Given the description of an element on the screen output the (x, y) to click on. 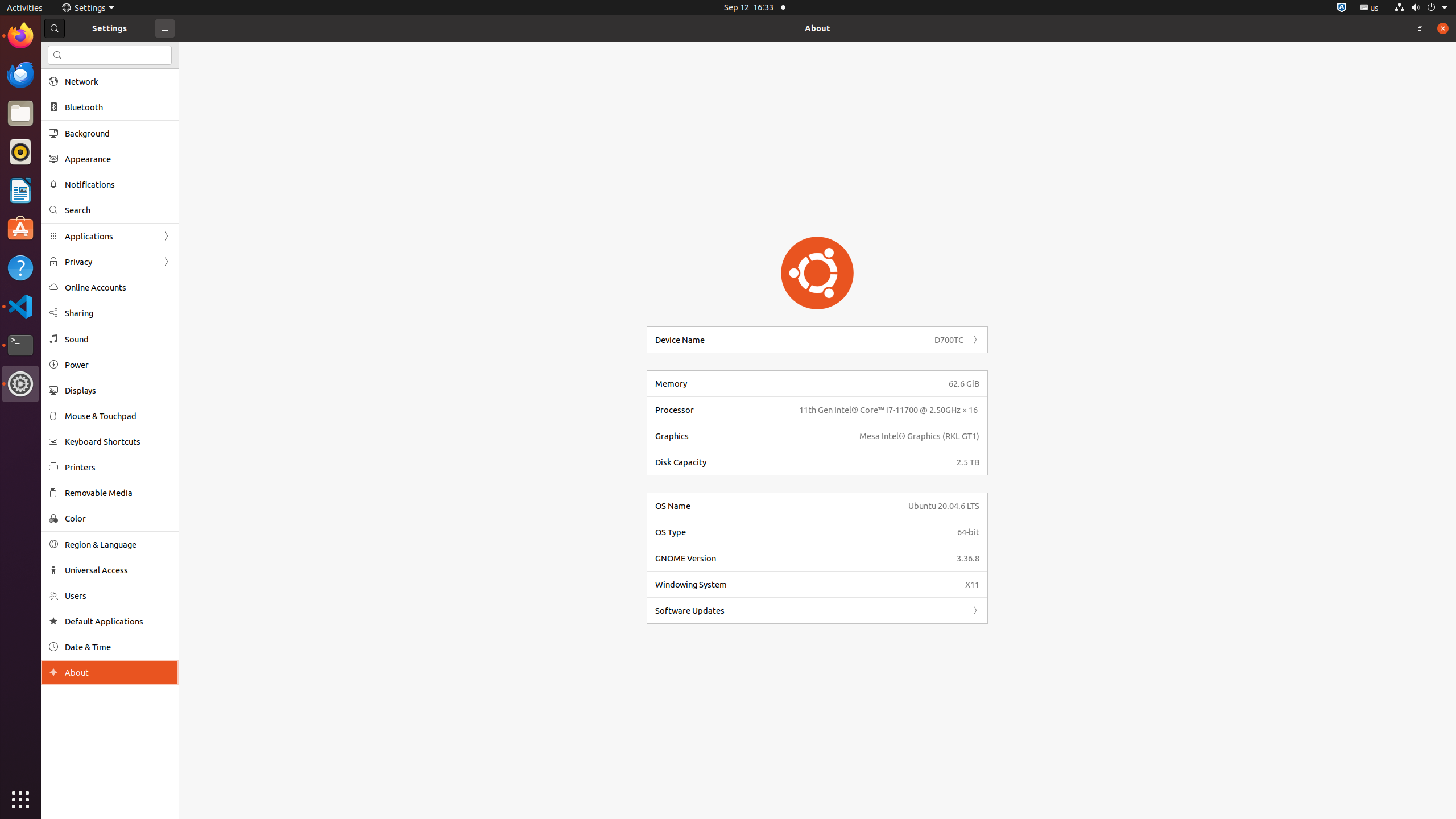
Primary Menu Element type: toggle-button (164, 28)
About Element type: label (817, 27)
3.36.8 Element type: label (967, 558)
Firefox Web Browser Element type: push-button (20, 35)
Disk Capacity Element type: label (802, 461)
